Given the description of an element on the screen output the (x, y) to click on. 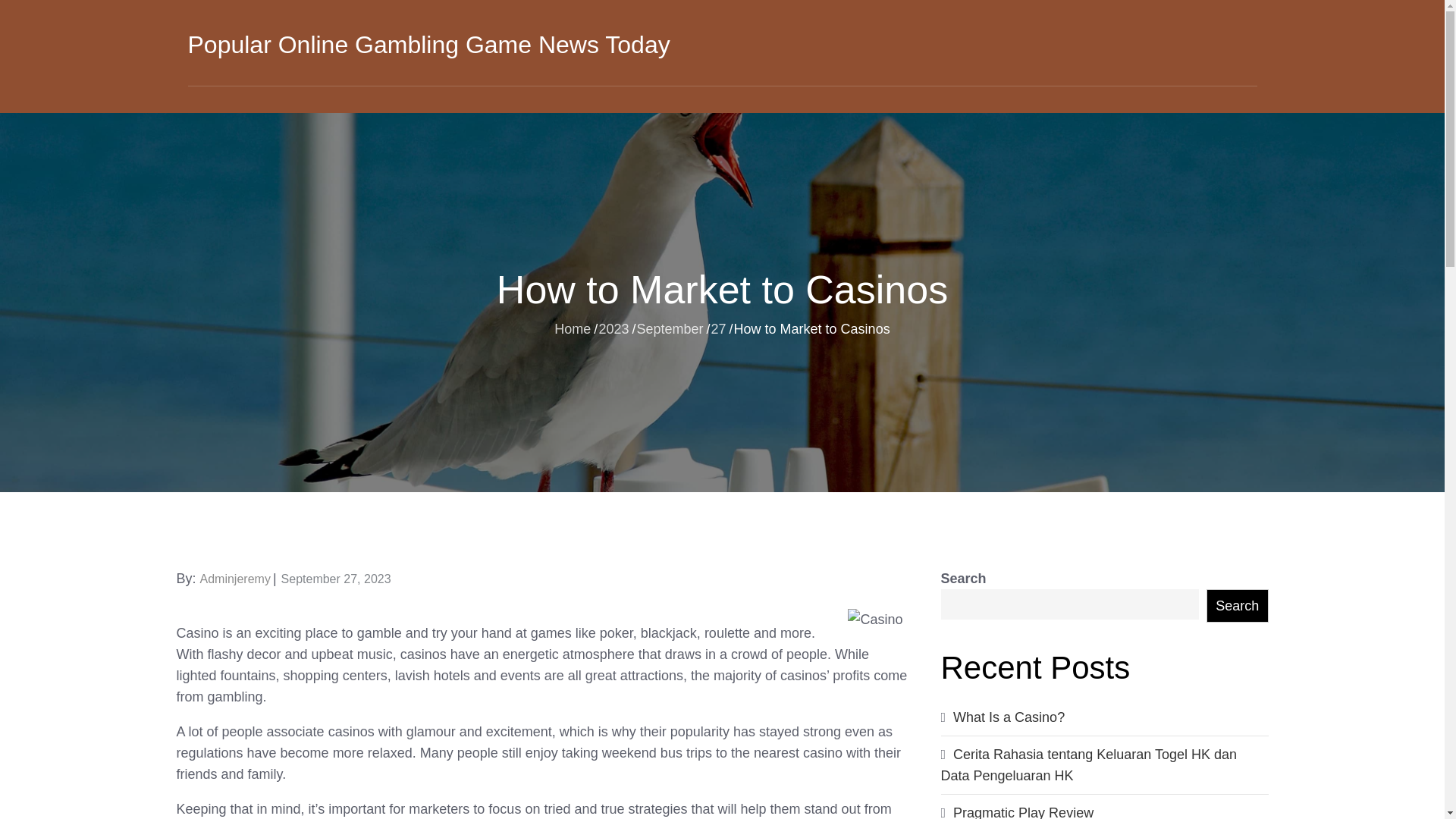
Home (572, 328)
Popular Online Gambling Game News Today (428, 44)
Adminjeremy (235, 578)
September 27, 2023 (336, 578)
What Is a Casino? (1008, 717)
2023 (613, 328)
Pragmatic Play Review (1023, 812)
Search (1237, 605)
27 (718, 328)
September (669, 328)
